Given the description of an element on the screen output the (x, y) to click on. 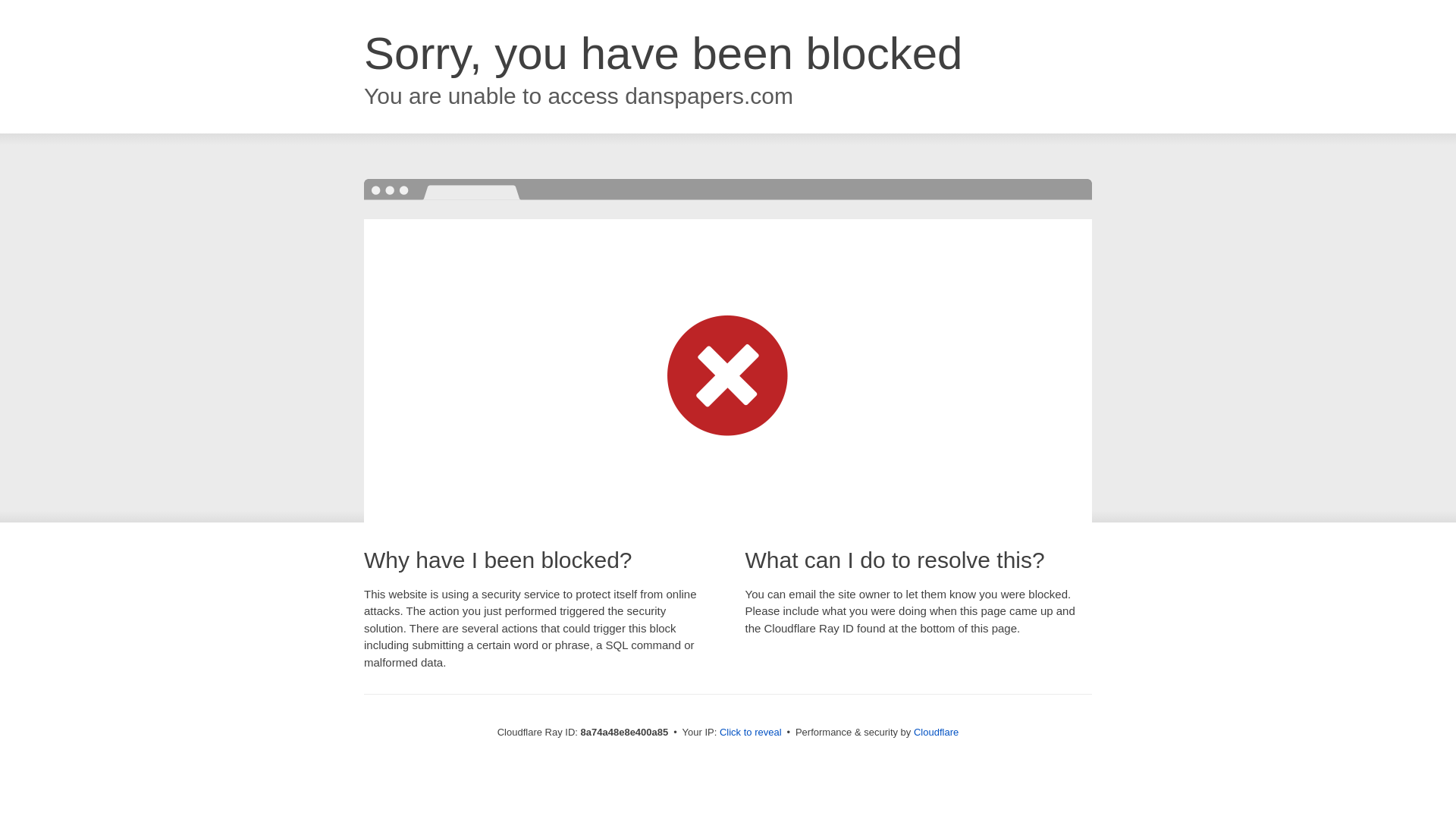
Cloudflare (936, 731)
Click to reveal (750, 732)
